Given the description of an element on the screen output the (x, y) to click on. 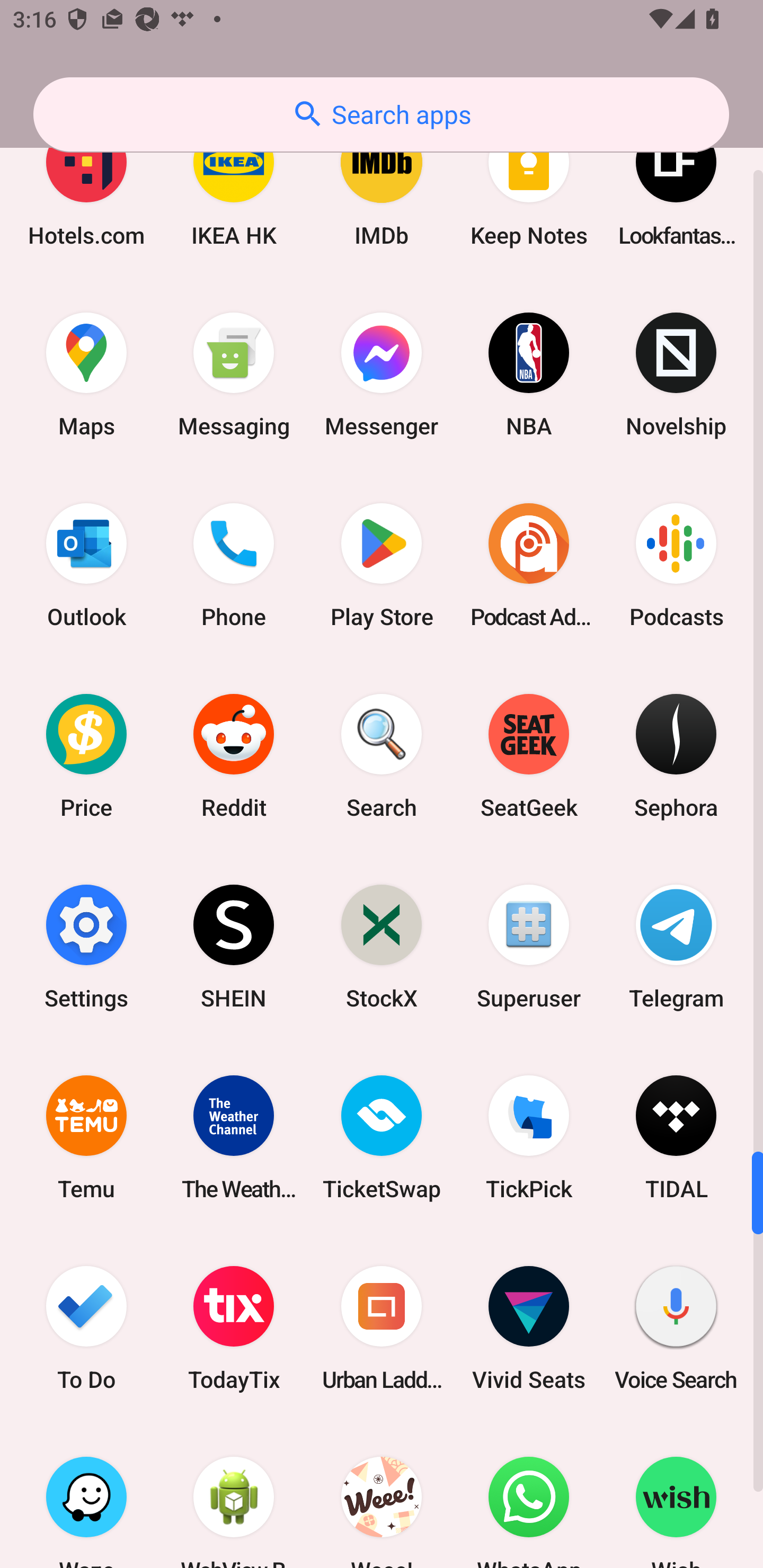
To Do (86, 1327)
